Given the description of an element on the screen output the (x, y) to click on. 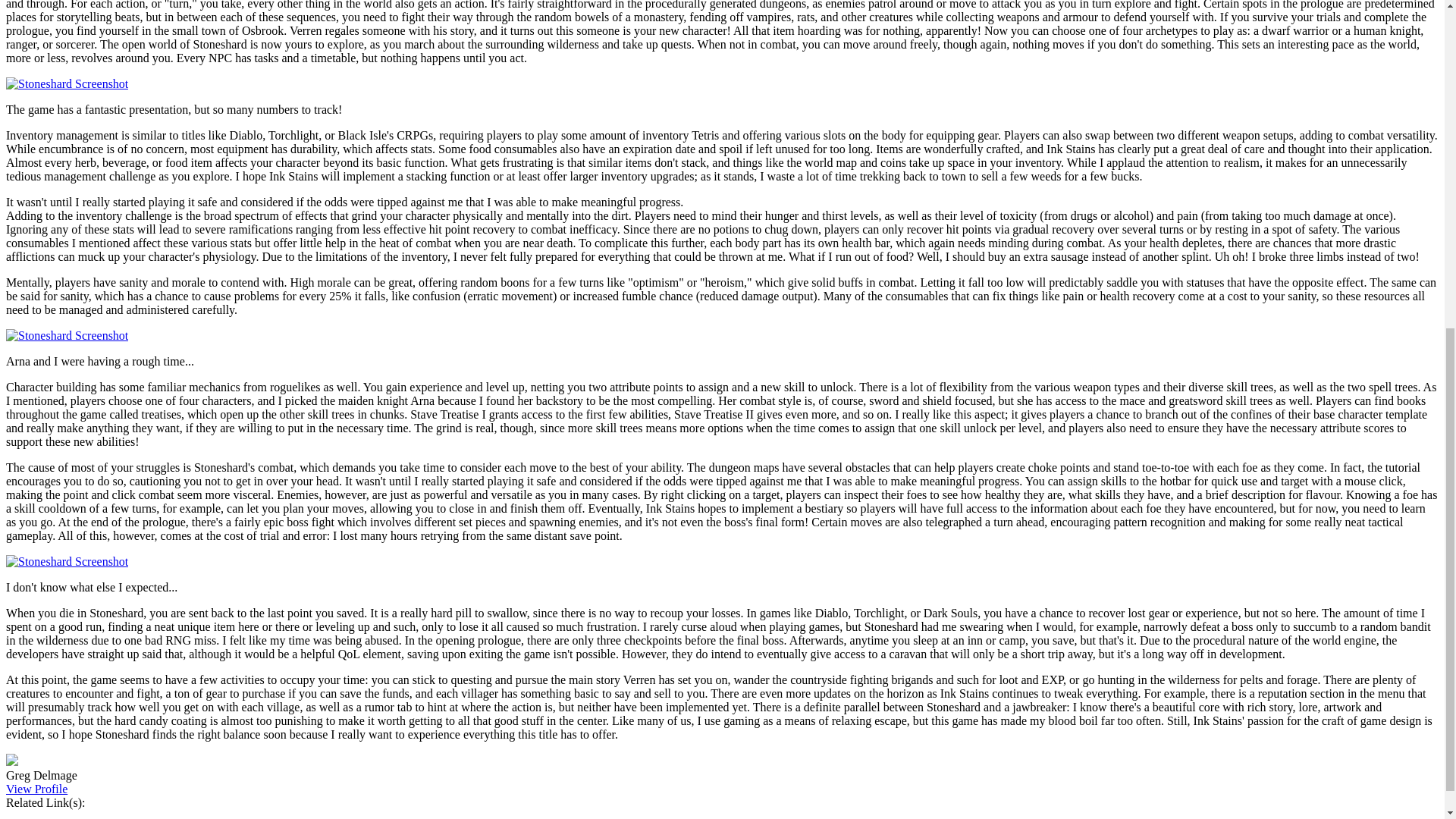
View Profile (35, 788)
